Given the description of an element on the screen output the (x, y) to click on. 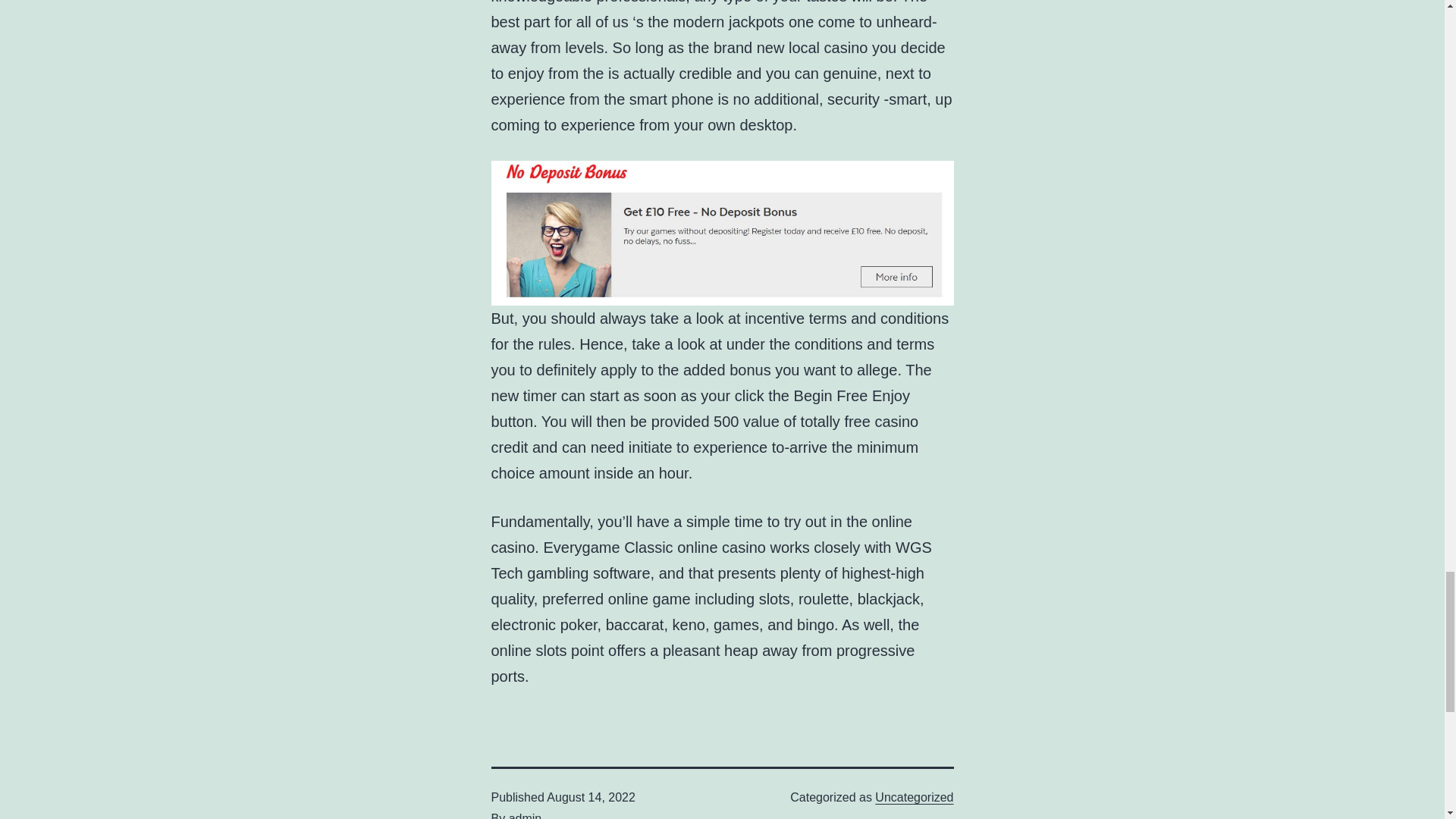
admin (524, 815)
Uncategorized (914, 797)
